Given the description of an element on the screen output the (x, y) to click on. 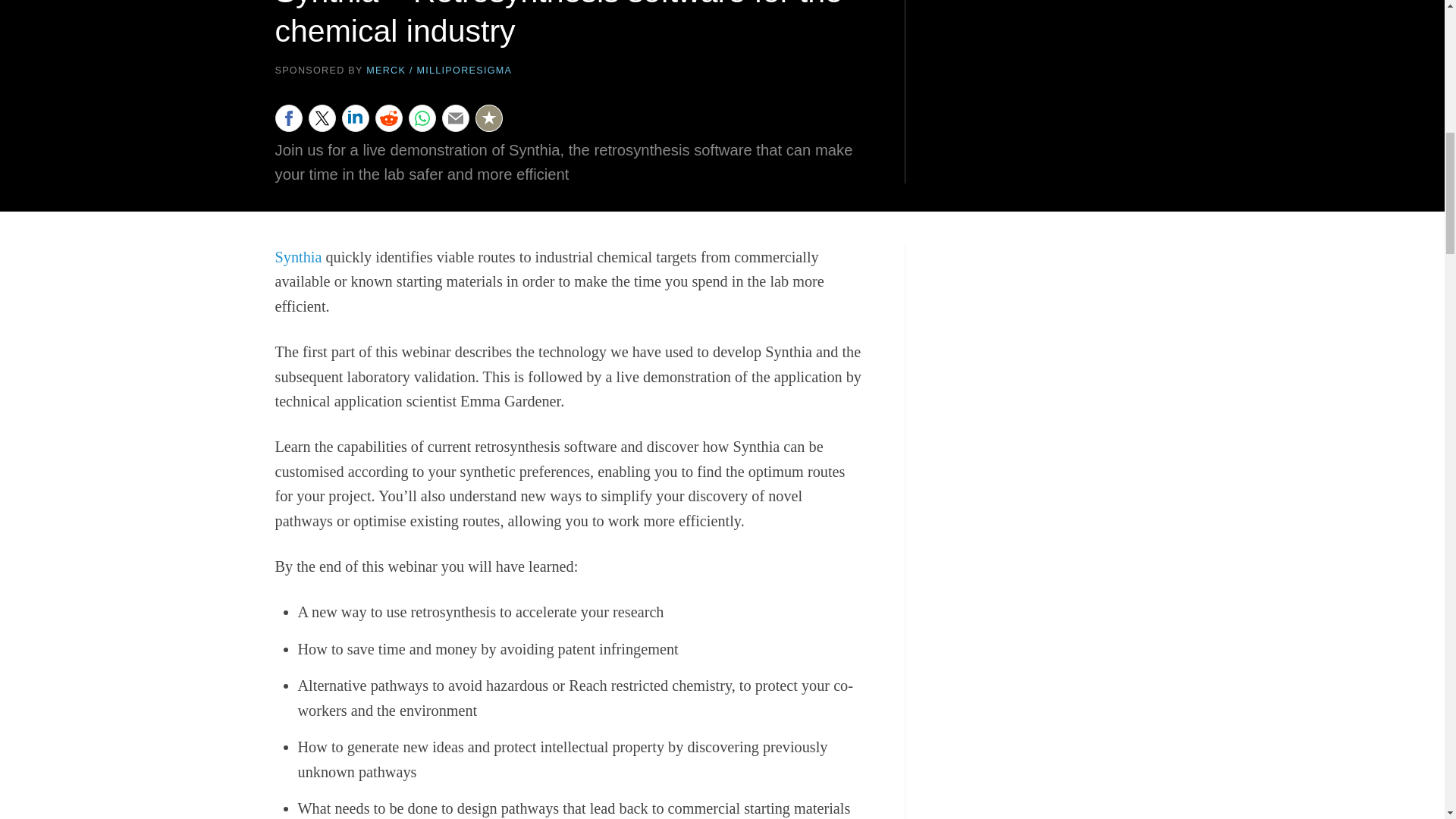
Share this on WhatsApp (421, 117)
Share this on Facebook (288, 117)
Share this on LinkedIn (354, 117)
3rd party ad content (1055, 91)
Share this by email (454, 117)
Find out more about Synthia (298, 256)
Share this on Reddit (387, 117)
